Given the description of an element on the screen output the (x, y) to click on. 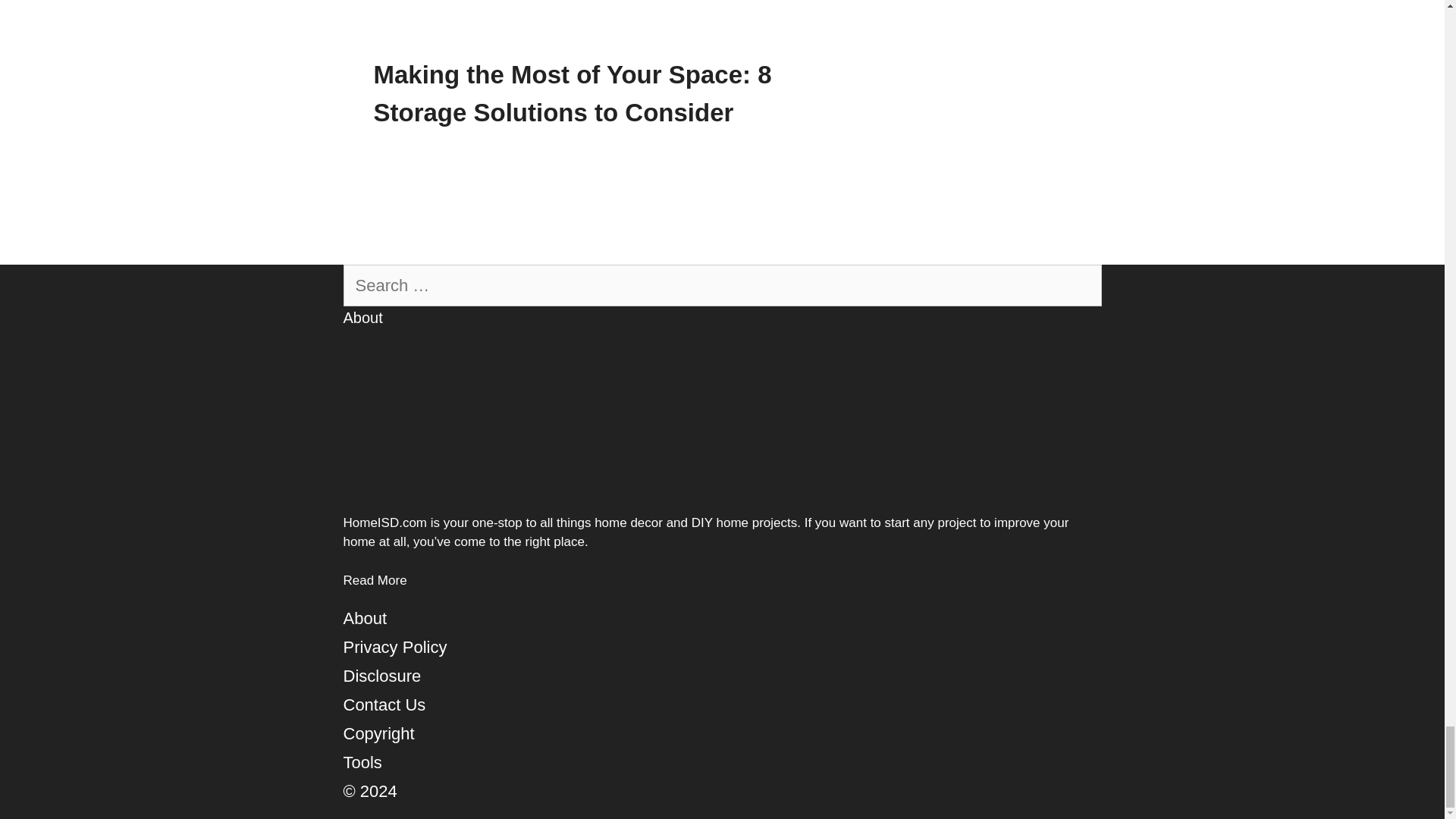
Search for: (721, 285)
